Given the description of an element on the screen output the (x, y) to click on. 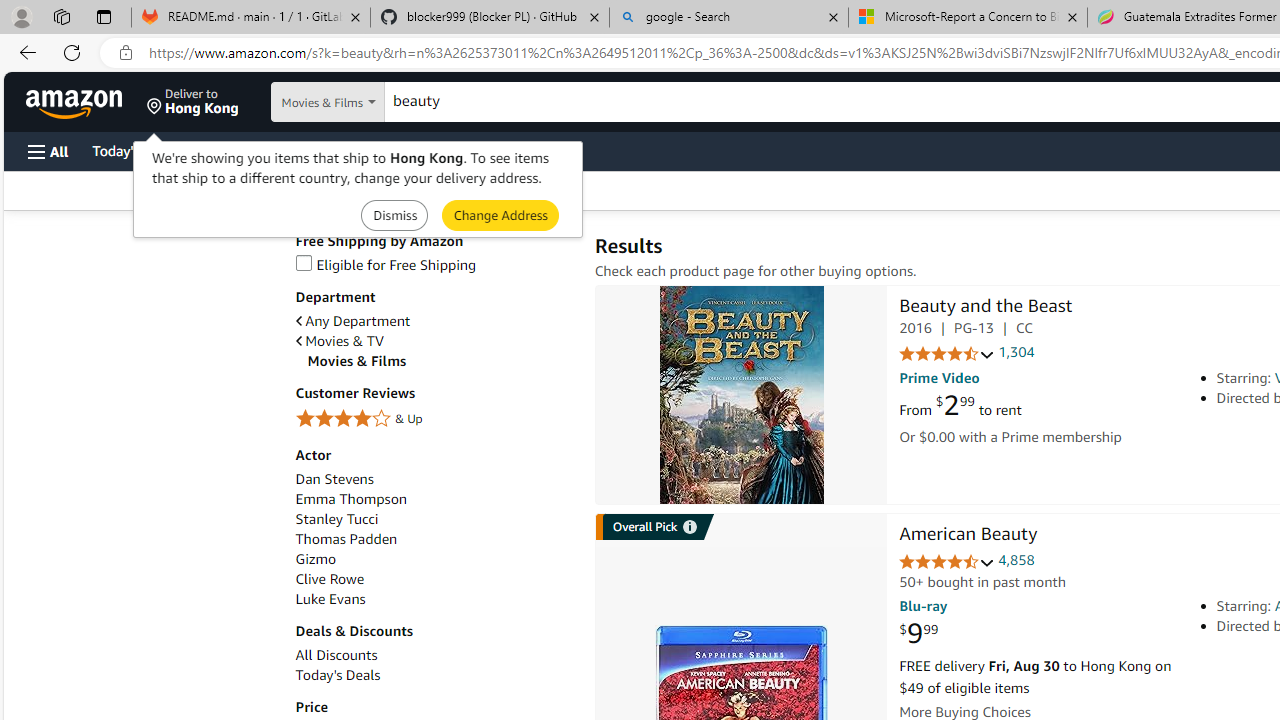
Clive Rowe (329, 579)
Submit (499, 214)
Deliver to Hong Kong (193, 101)
Blu-ray (923, 606)
Movies & Films (440, 361)
Thomas Padden (346, 538)
Gizmo (434, 559)
google - Search (729, 17)
All Discounts (335, 655)
Any Department (352, 321)
Luke Evans (330, 599)
From $2.99 to rent (959, 406)
Any Department (434, 321)
Search in (371, 102)
